Given the description of an element on the screen output the (x, y) to click on. 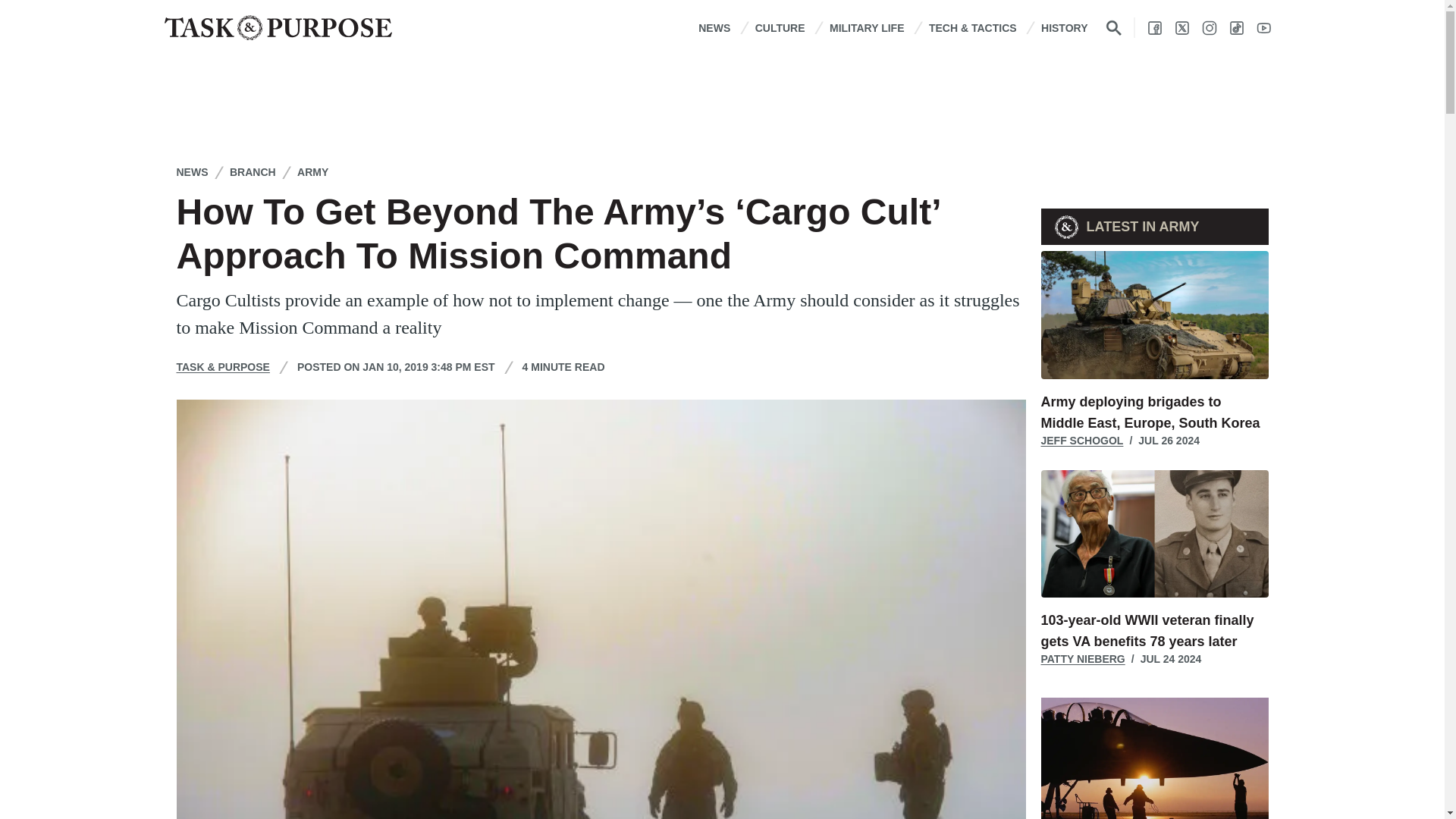
CULTURE (780, 27)
NEWS (714, 27)
MILITARY LIFE (866, 27)
